Given the description of an element on the screen output the (x, y) to click on. 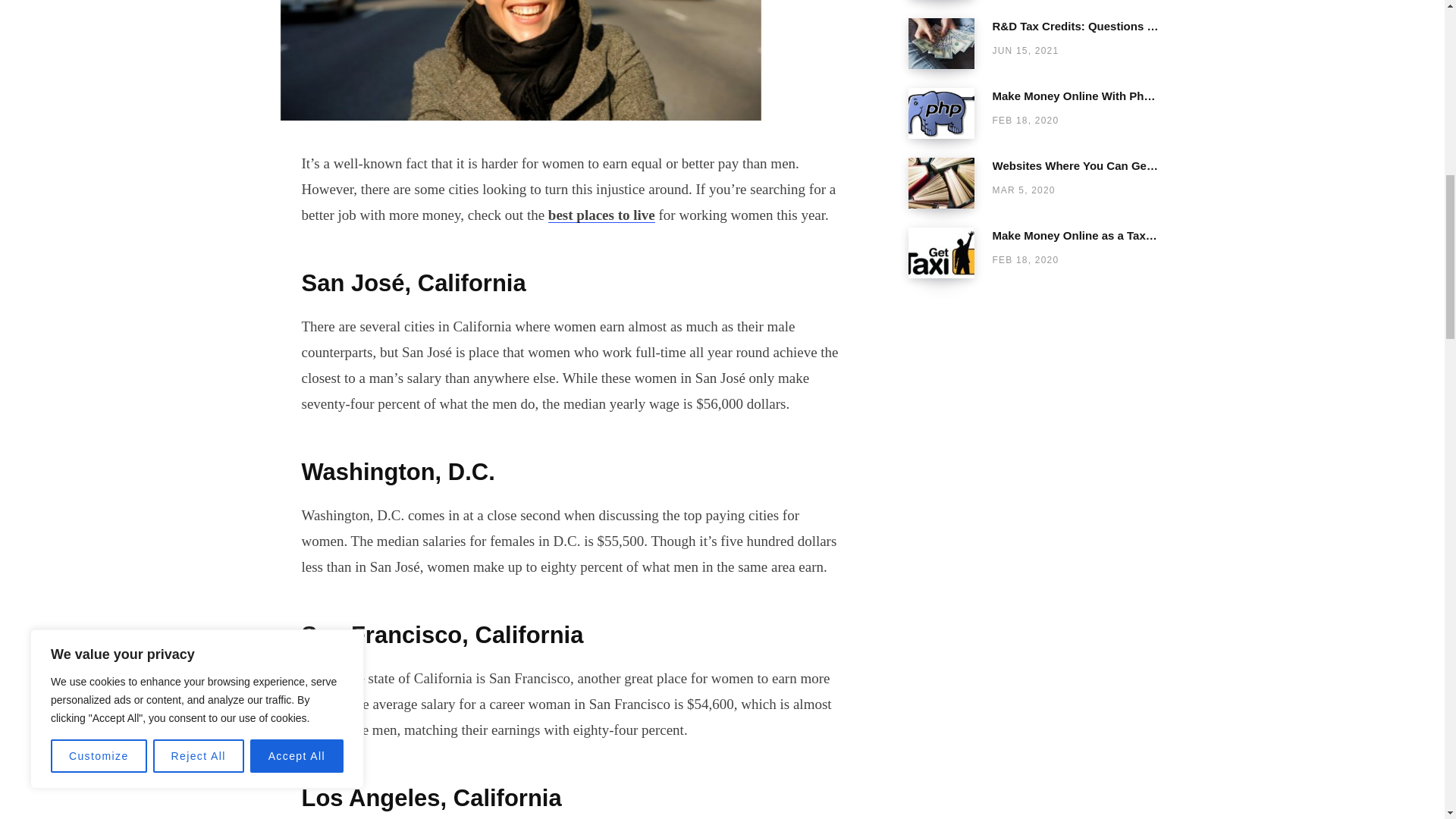
best places to live (601, 214)
